Given the description of an element on the screen output the (x, y) to click on. 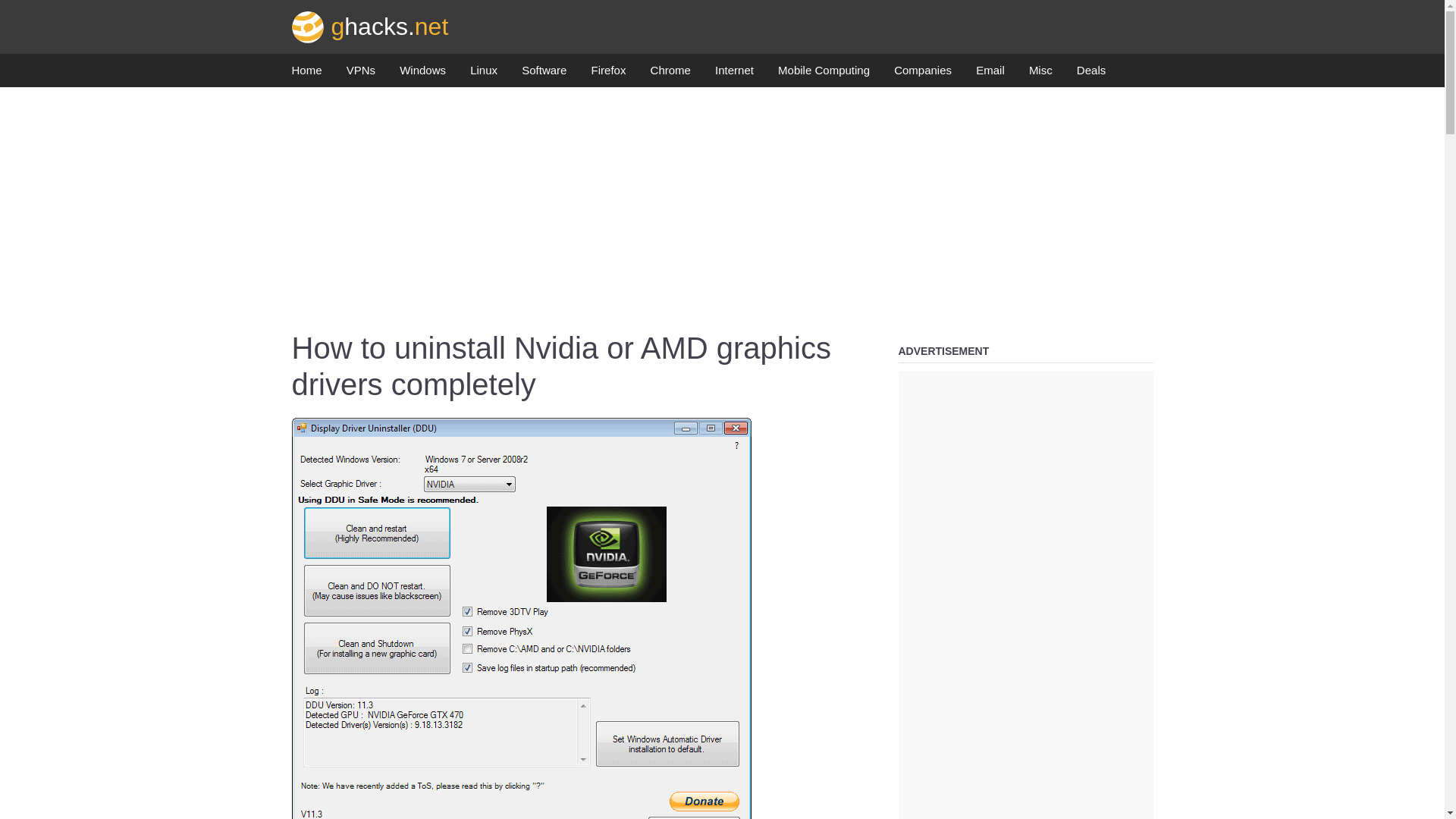
Firefox (608, 73)
Chrome (670, 73)
Linux (483, 73)
VPNs (360, 73)
Misc (1040, 73)
Email (989, 73)
Deals (1091, 73)
Internet (734, 73)
Home (306, 73)
Mobile Computing (823, 73)
Software (543, 73)
ghacks.net (369, 26)
Windows (421, 73)
Companies (922, 73)
